Given the description of an element on the screen output the (x, y) to click on. 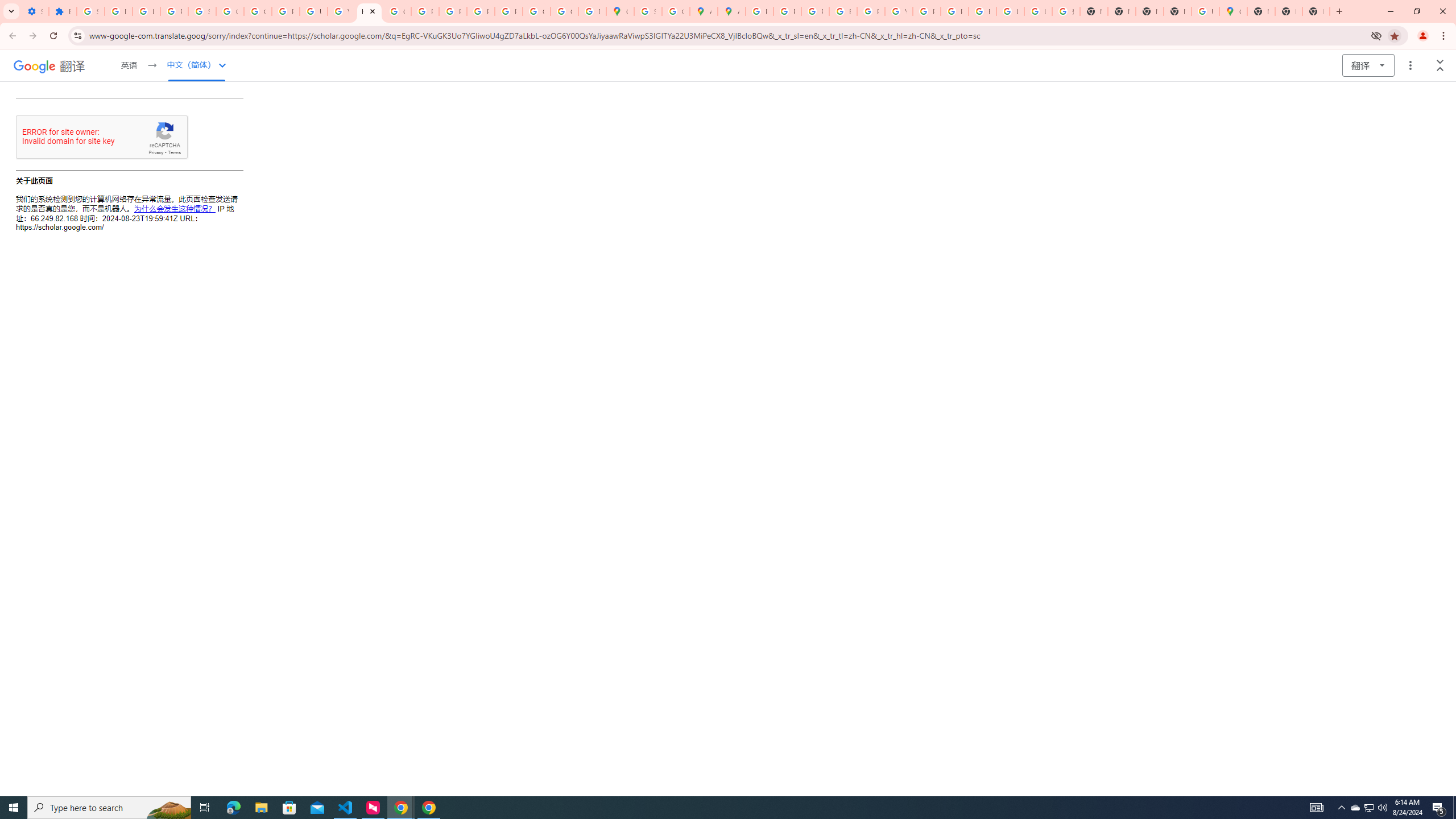
Privacy Help Center - Policies Help (425, 11)
Create your Google Account (675, 11)
Google Maps (620, 11)
